Given the description of an element on the screen output the (x, y) to click on. 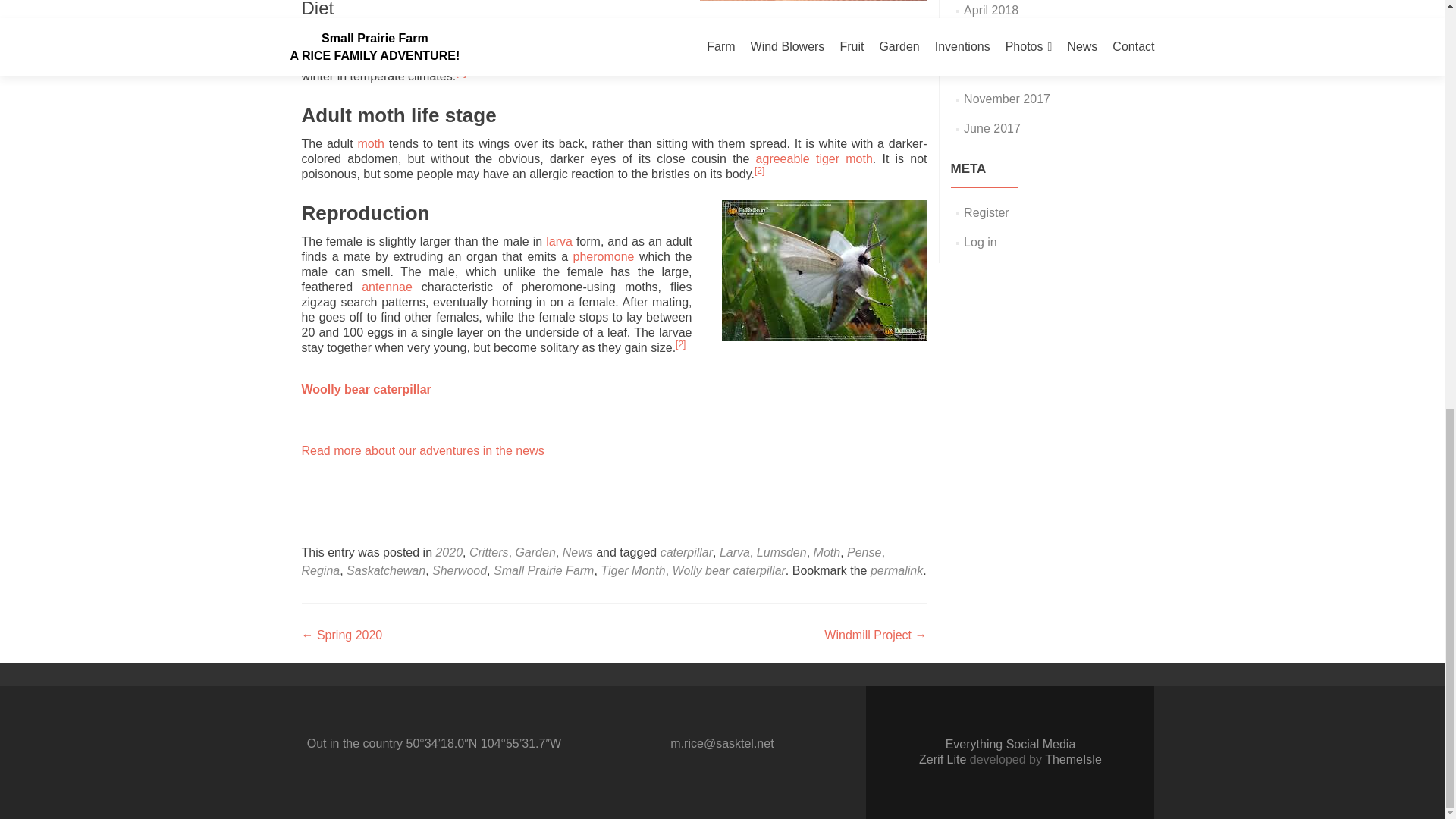
Lumsden (781, 552)
2020 (449, 552)
Moth (827, 552)
Pyrrharctia isabella (365, 389)
moth (370, 143)
Agreeable tiger moth (813, 158)
Moth (370, 143)
Critters (488, 552)
News (577, 552)
Read more about our adventures in the news (422, 450)
pheromone (603, 256)
Pheromone (603, 256)
Larva (734, 552)
antennae (386, 286)
Pense (863, 552)
